Given the description of an element on the screen output the (x, y) to click on. 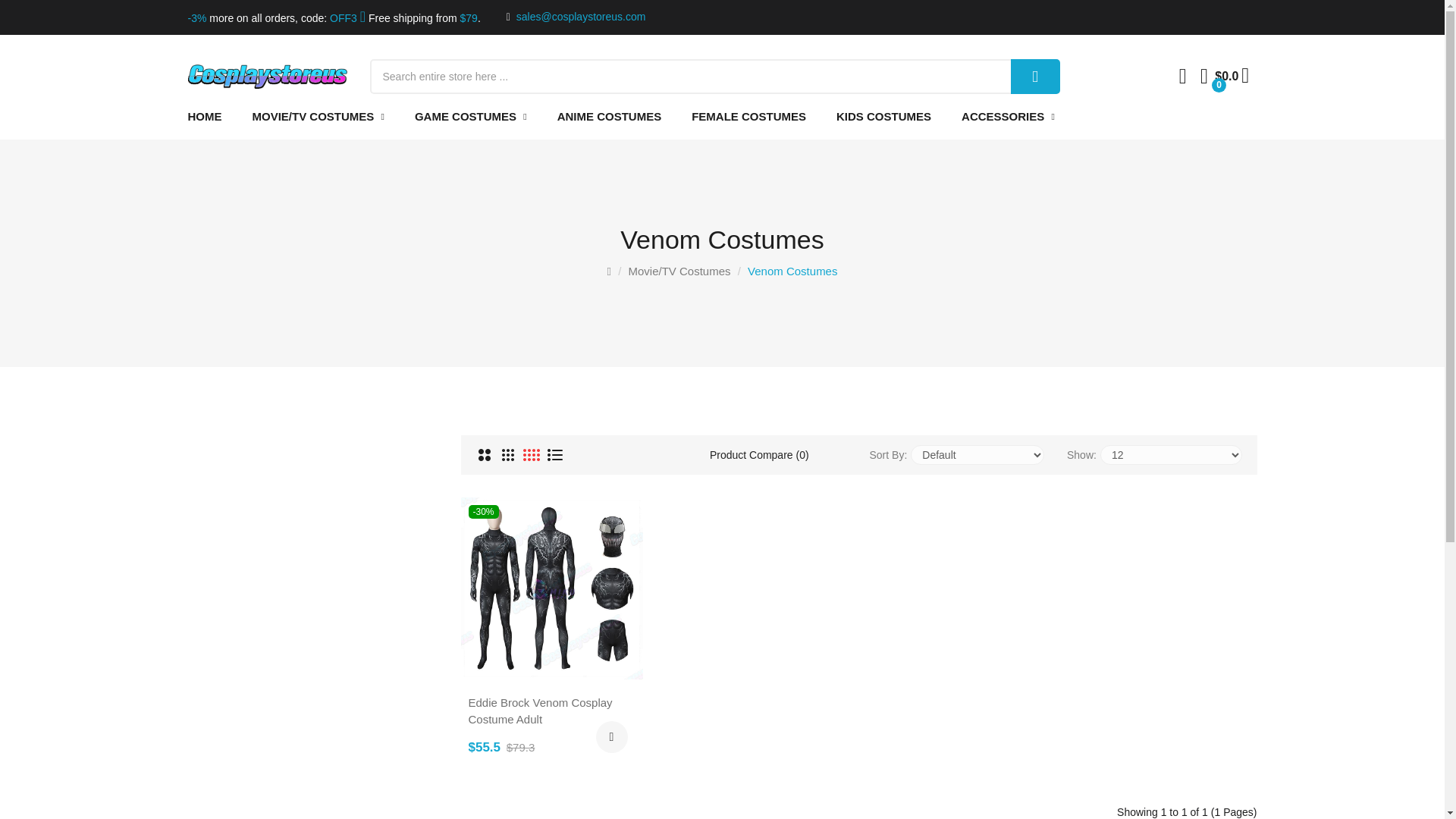
Eddie Brock Venom Cosplay Costume Adult (552, 588)
My Account (1245, 78)
Add to Cart (611, 736)
